Given the description of an element on the screen output the (x, y) to click on. 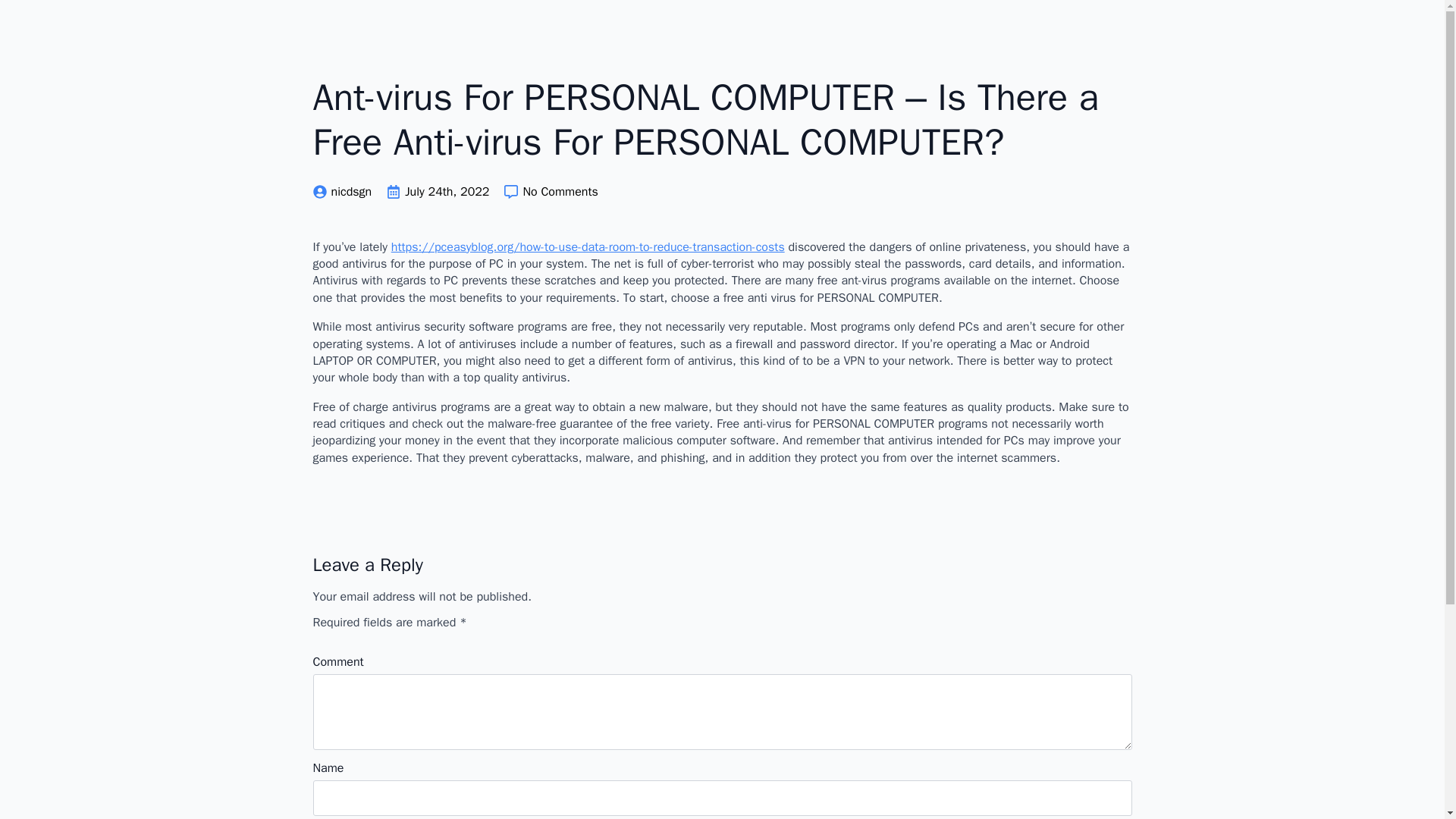
No Comments (549, 191)
